Given the description of an element on the screen output the (x, y) to click on. 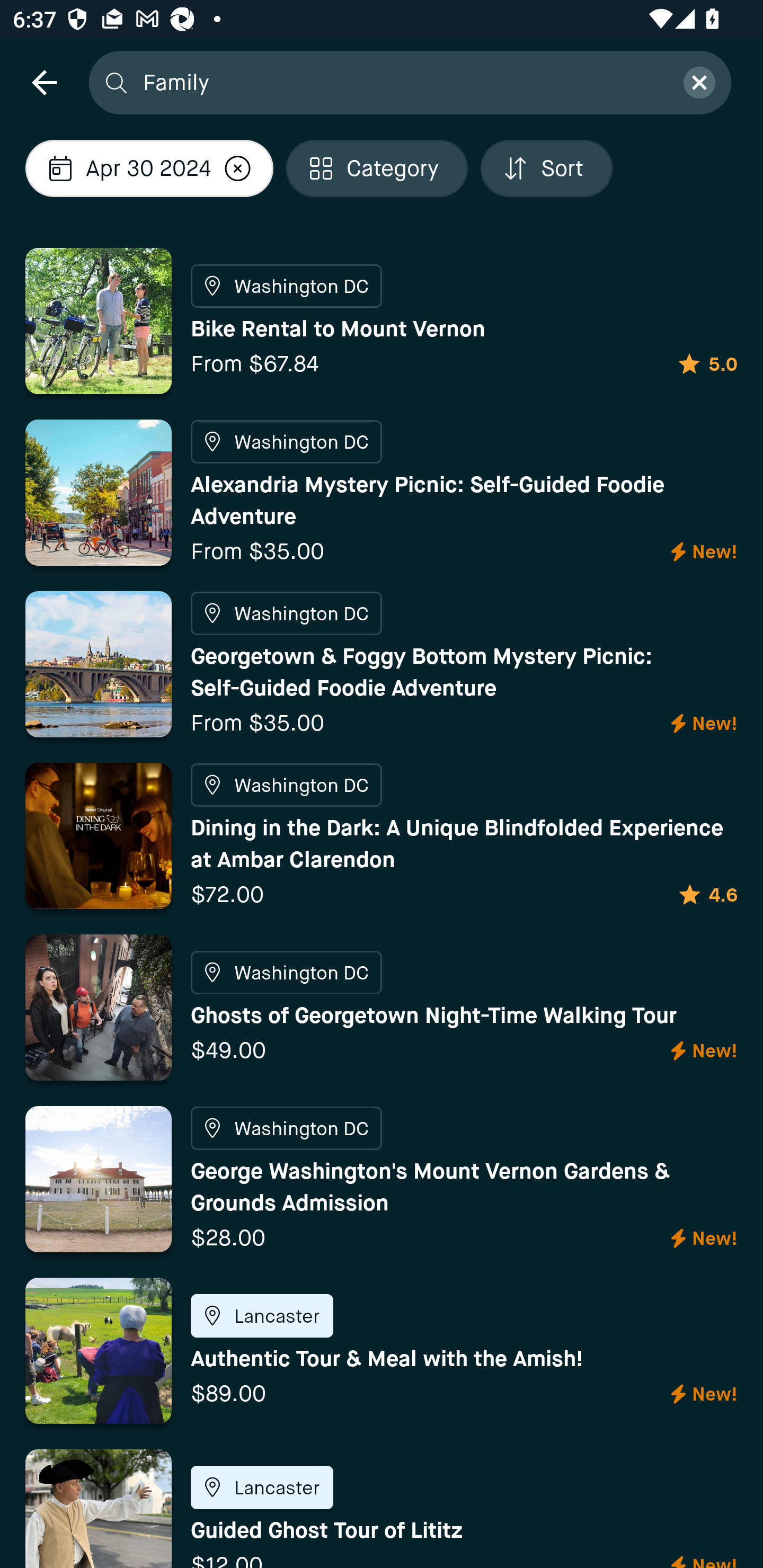
navigation icon (44, 81)
Family (402, 81)
Localized description (237, 168)
Localized description Category (376, 168)
Localized description Sort (546, 168)
